Given the description of an element on the screen output the (x, y) to click on. 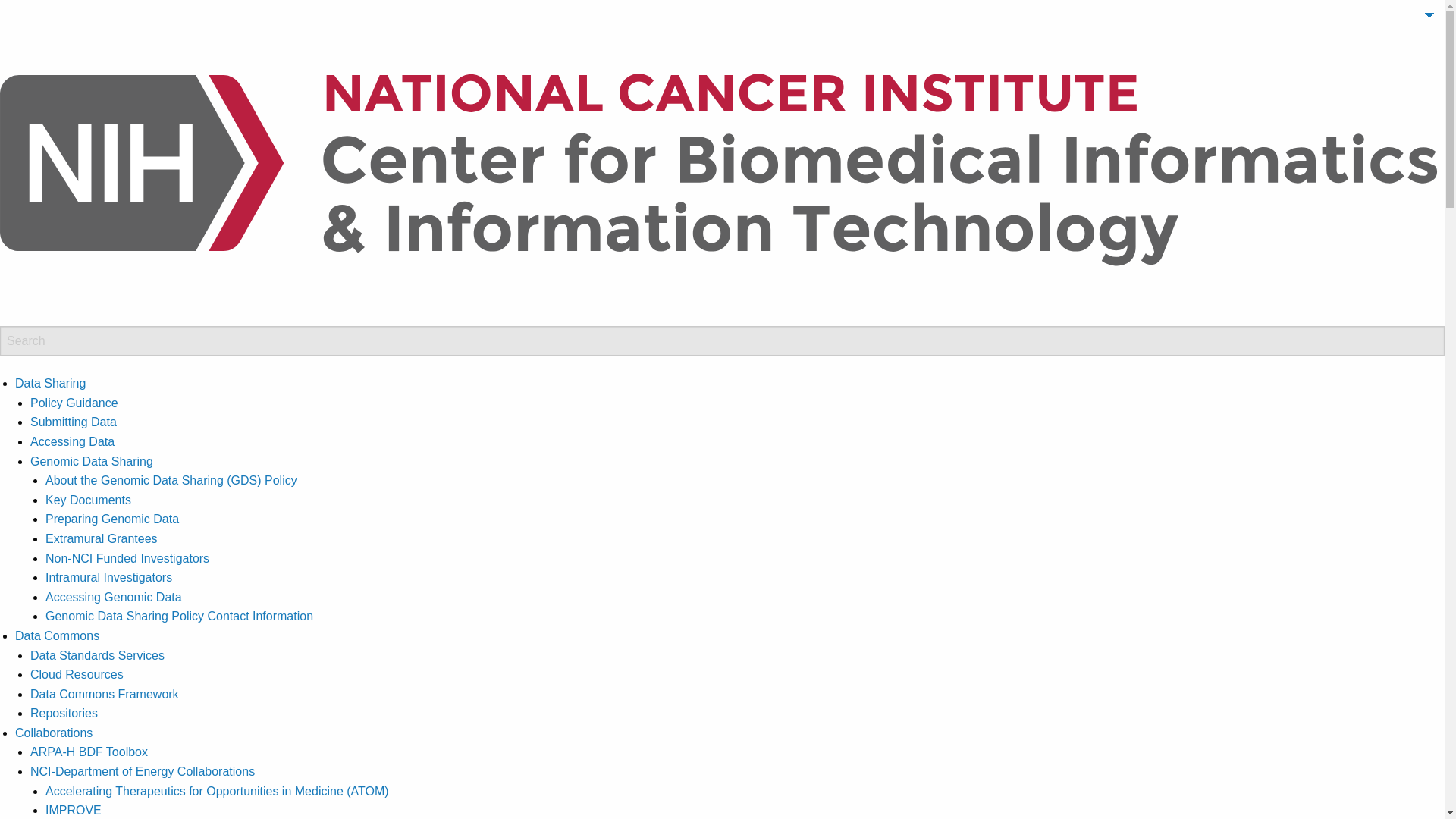
Policy Guidance (73, 402)
Preparing Genomic Data (112, 518)
Data Sharing (49, 382)
Data Commons Framework (104, 694)
ARPA-H BDF Toolbox (89, 751)
Genomic Data Sharing Policy Contact Information (179, 615)
Accessing Data (72, 440)
IMPROVE (73, 809)
Submitting Data (73, 421)
Key Documents (88, 499)
Repositories (63, 712)
Non-NCI Funded Investigators (127, 558)
Data Standards Services (97, 655)
Genomic Data Sharing Policy Contact Information (179, 615)
